Given the description of an element on the screen output the (x, y) to click on. 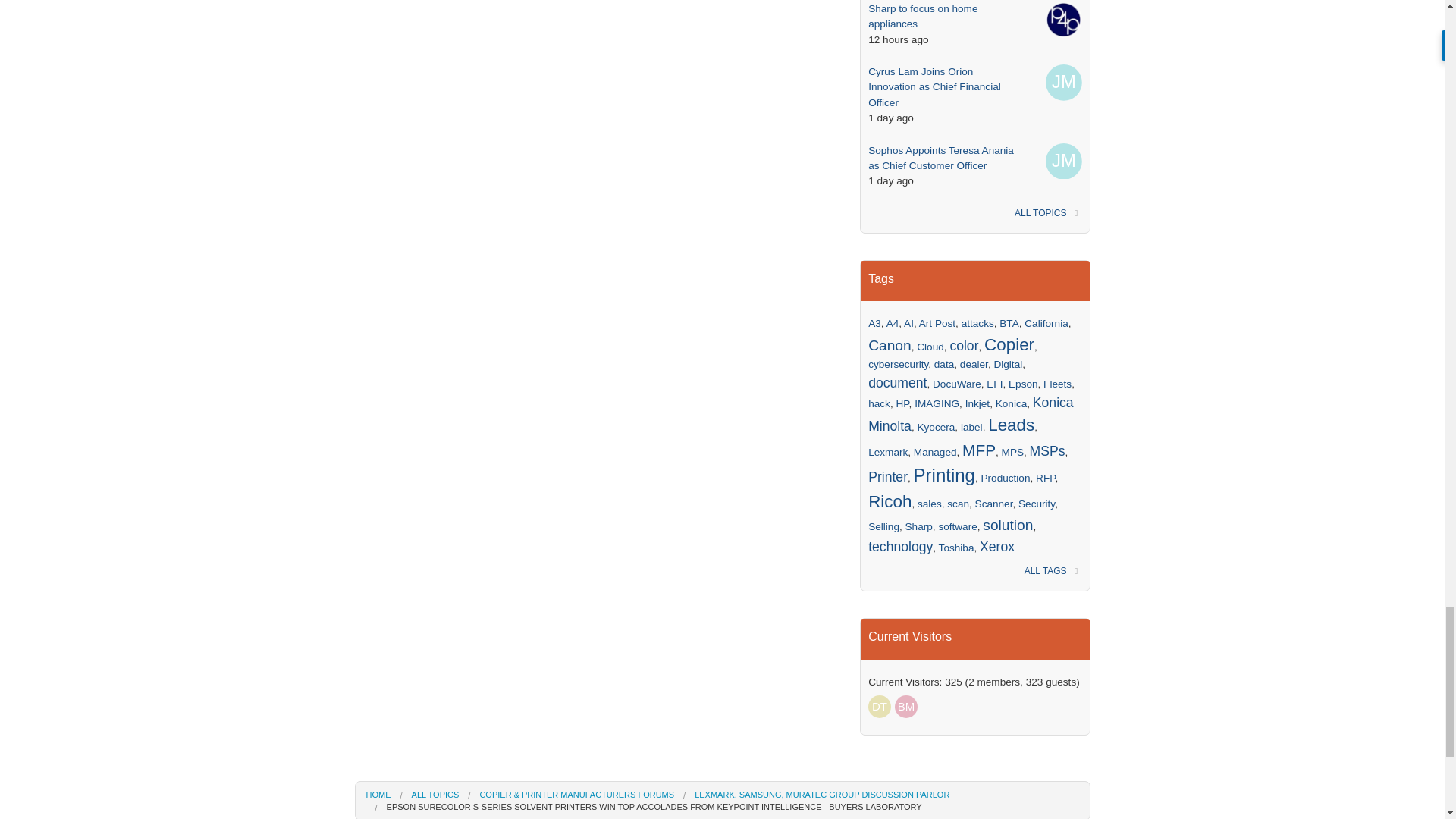
BM (906, 706)
JM (1063, 82)
JM (1063, 161)
DT (879, 706)
